Given the description of an element on the screen output the (x, y) to click on. 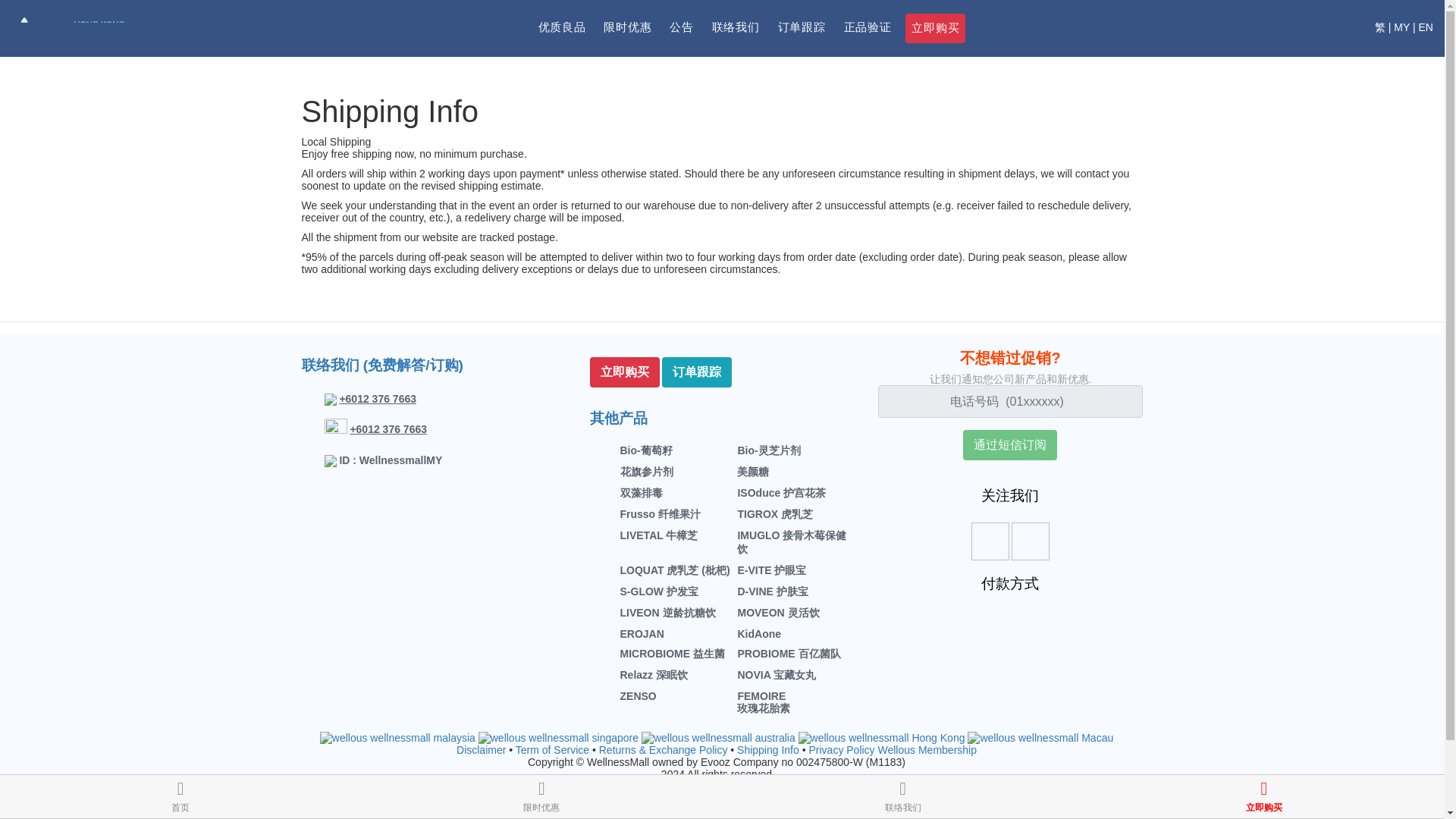
EROJAN (641, 633)
EN (1425, 27)
MY (1401, 27)
KidAone (758, 633)
